Given the description of an element on the screen output the (x, y) to click on. 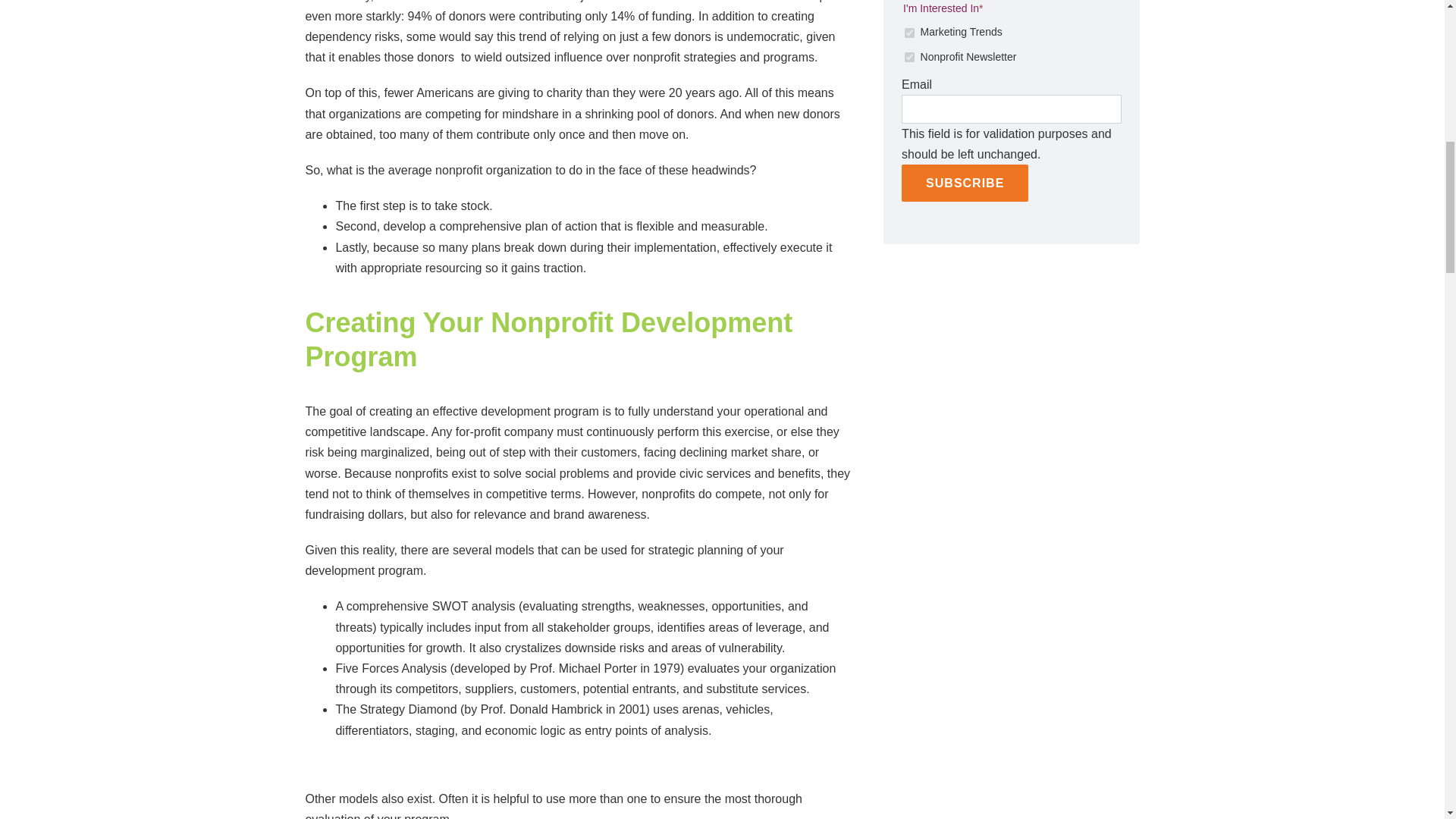
Marketing Trends (909, 32)
Nonprofit Newsletter (909, 57)
Subscribe (964, 182)
